Given the description of an element on the screen output the (x, y) to click on. 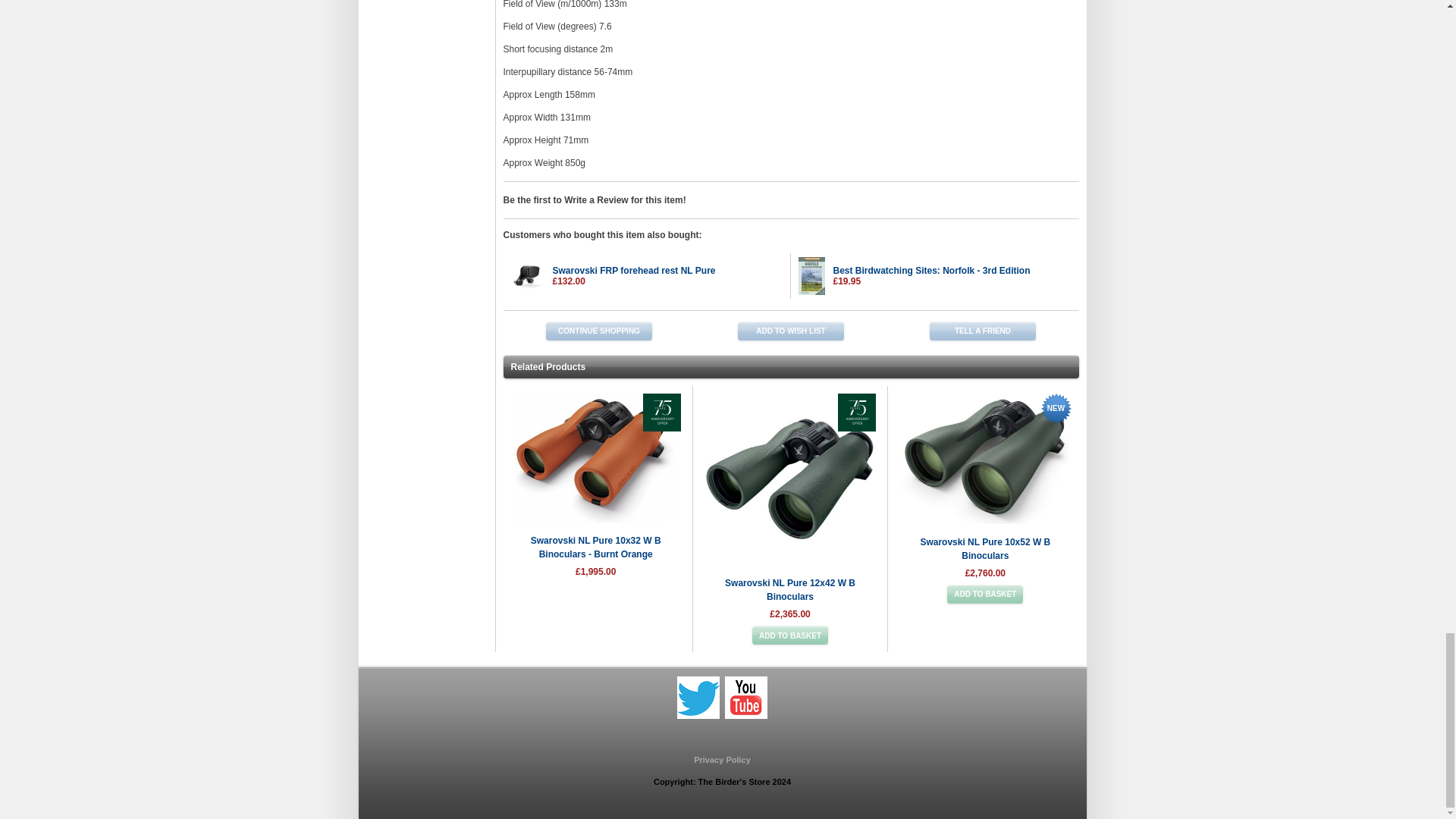
Write a Review (595, 199)
ADD TO WISH LIST (791, 331)
Best Birdwatching Sites: Norfolk - 3rd Edition (930, 270)
TELL A FRIEND (982, 331)
Swarovski FRP forehead rest NL Pure (632, 270)
Swarovski NL Pure 10x32 W B Binoculars - Burnt Orange (596, 547)
CONTINUE SHOPPING (599, 331)
